Given the description of an element on the screen output the (x, y) to click on. 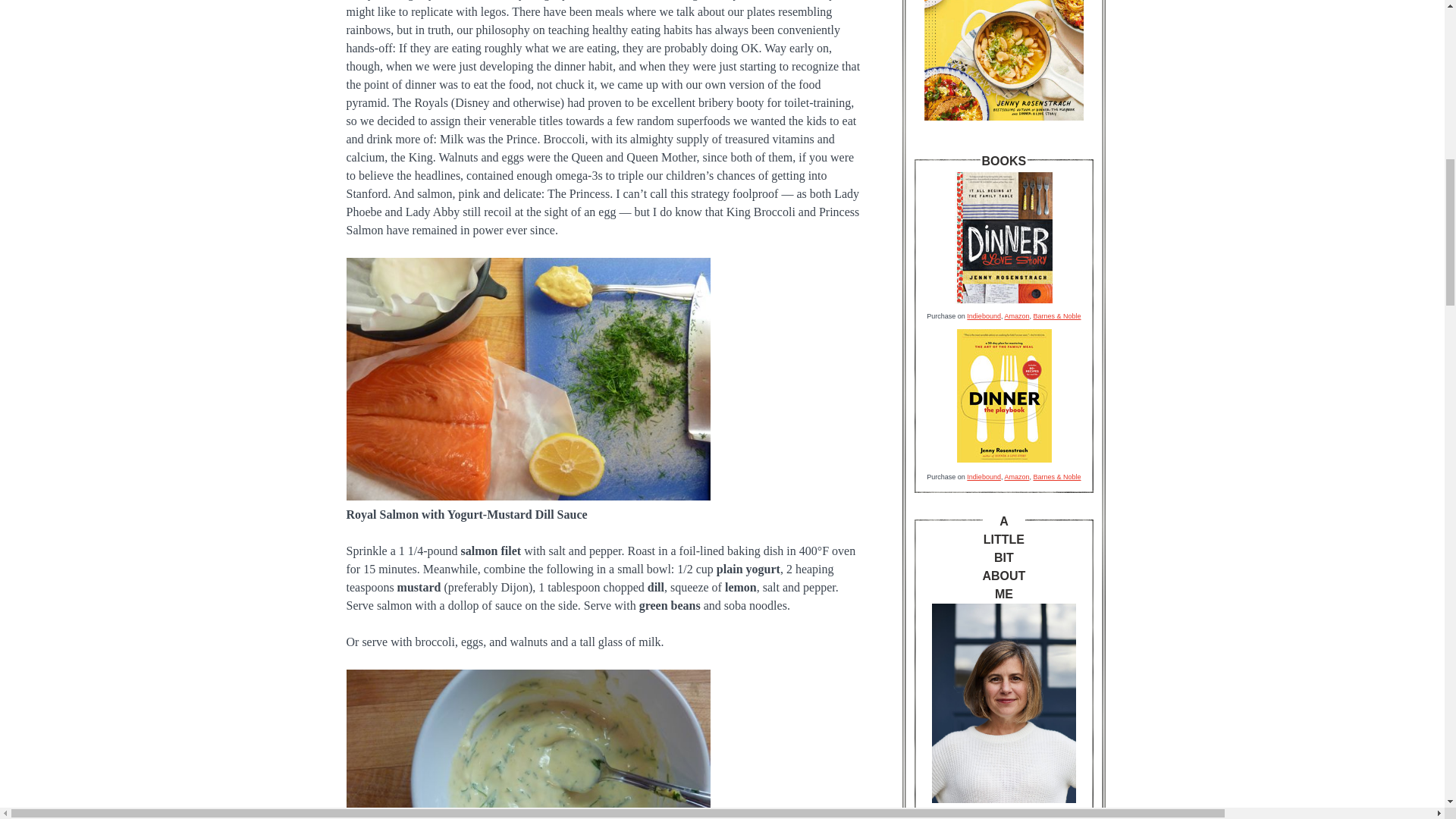
dip (528, 744)
salmon prep (528, 378)
